Given the description of an element on the screen output the (x, y) to click on. 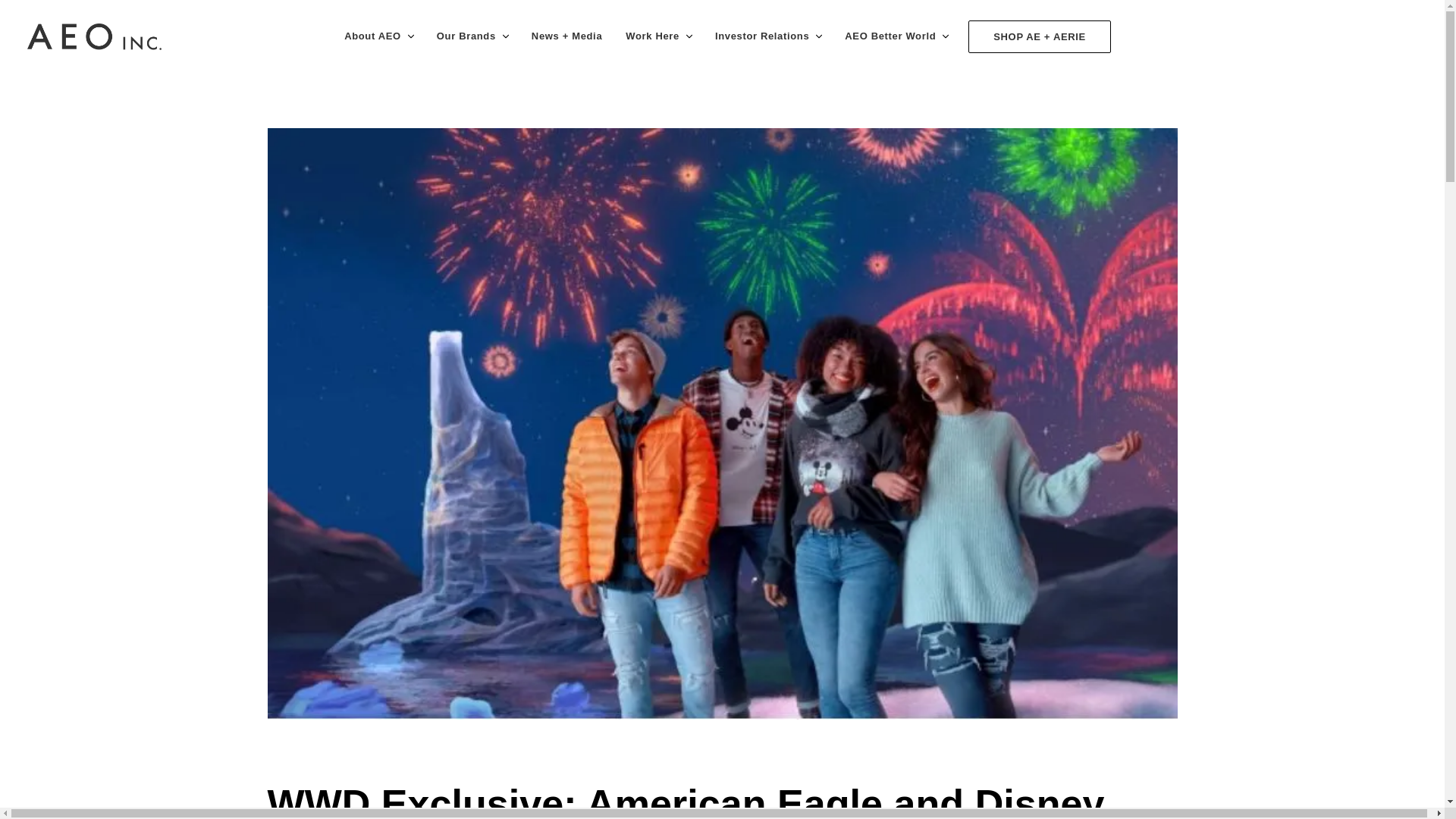
Work Here (649, 35)
AEO Better World (888, 35)
About AEO (370, 35)
Investor Relations (759, 35)
Our Brands (464, 35)
